Given the description of an element on the screen output the (x, y) to click on. 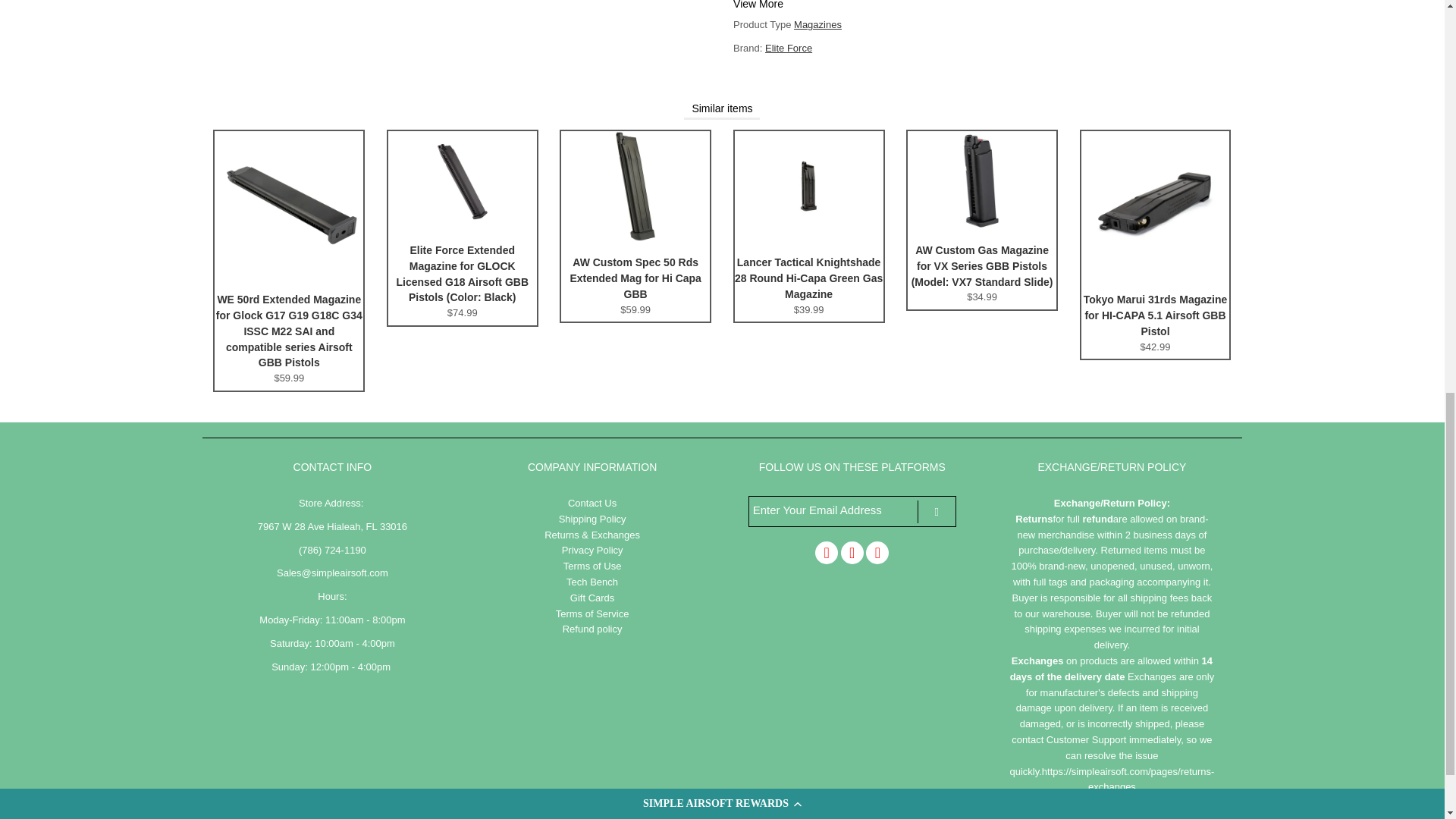
Elite Force (788, 48)
AW Custom Spec 50 Rds Extended Mag for Hi Capa GBB (635, 238)
Magazines (817, 24)
